Given the description of an element on the screen output the (x, y) to click on. 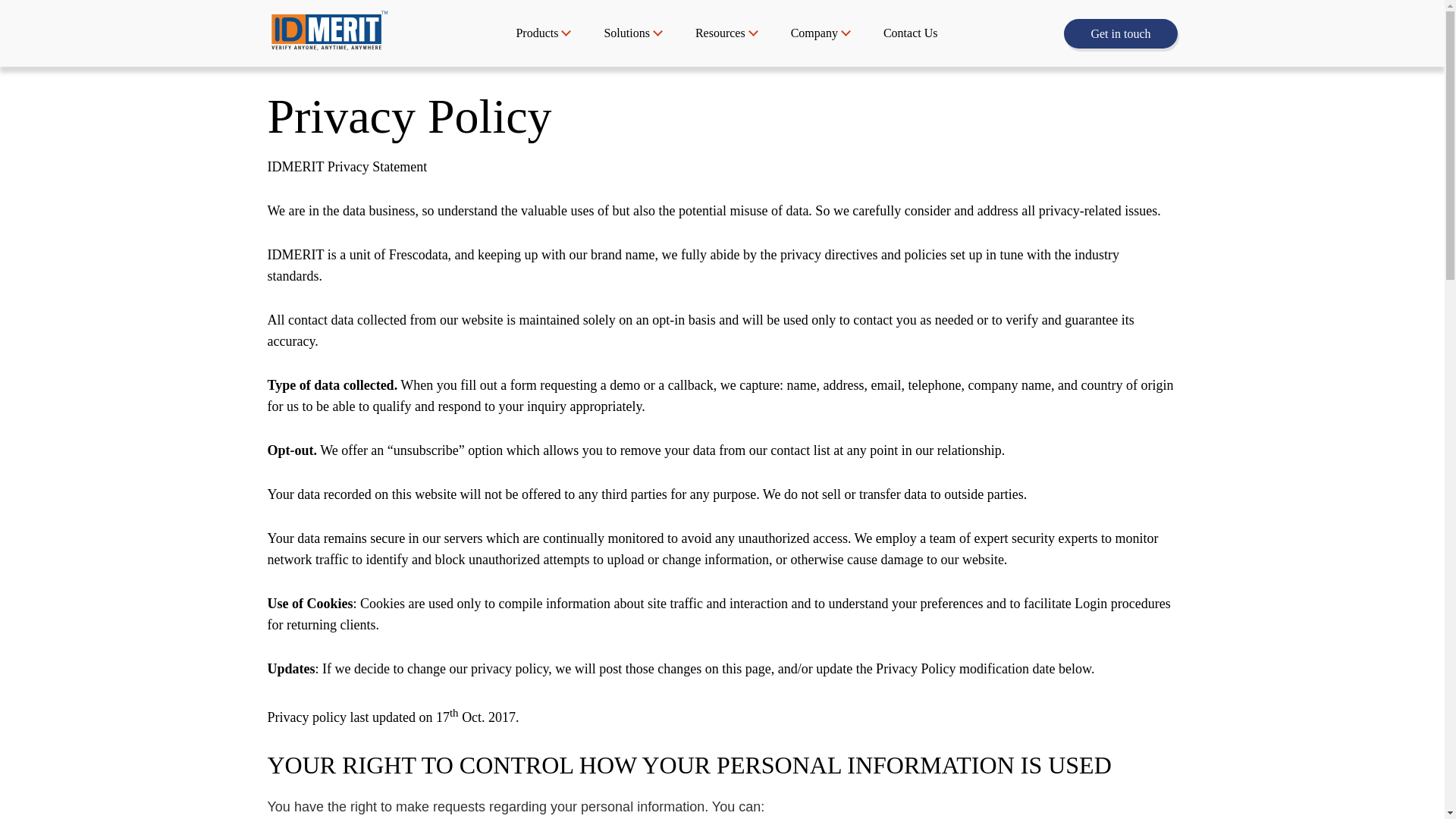
Company (813, 33)
Products (536, 33)
Resources (720, 33)
Solutions (626, 33)
